Given the description of an element on the screen output the (x, y) to click on. 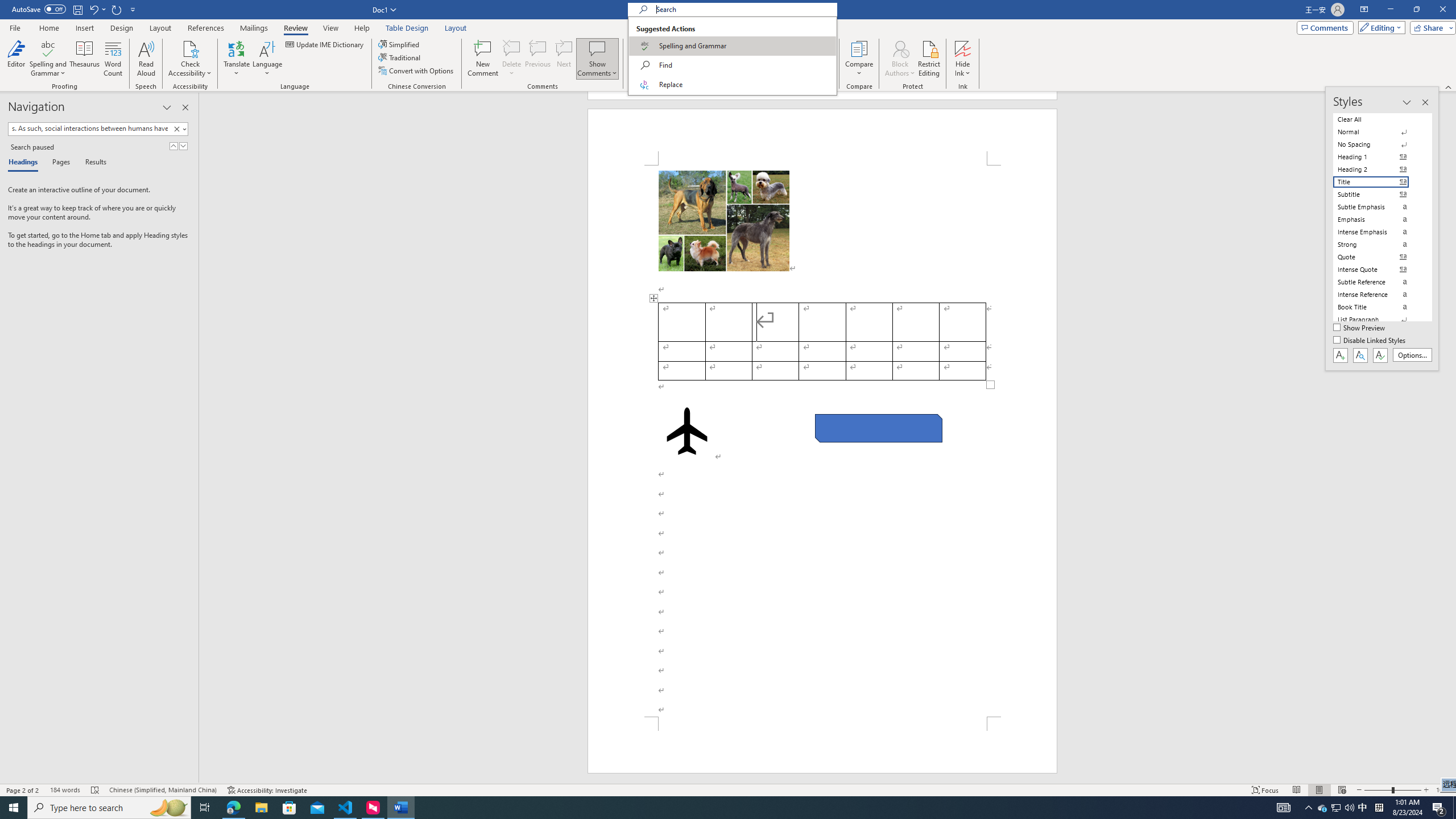
Microsoft search (742, 9)
Airplane with solid fill (686, 430)
Class: NetUITWMenuContainer (731, 56)
Review (295, 28)
Class: MsoCommandBar (728, 45)
Compare (859, 58)
Intense Reference (1377, 294)
Class: NetUIImage (176, 128)
Check Accessibility (189, 58)
File Tab (15, 27)
Thesaurus... (84, 58)
Zoom 104% (1443, 790)
Find (731, 65)
AutoSave (38, 9)
